Given the description of an element on the screen output the (x, y) to click on. 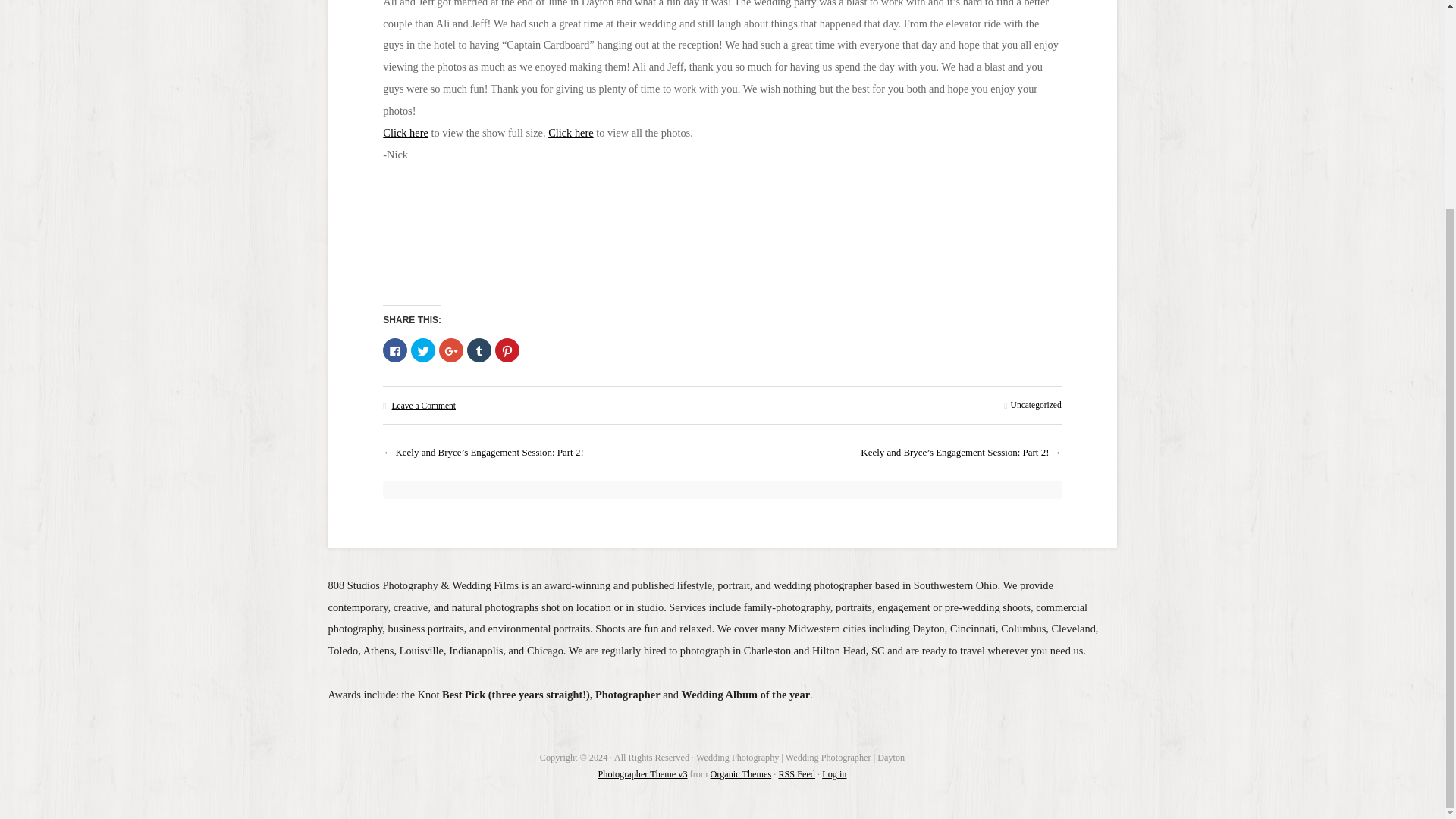
Click here (405, 132)
Photographer Theme v3 (642, 774)
Organic Themes (740, 774)
Click to share on Facebook (394, 350)
RSS Feed (796, 774)
Uncategorized (1035, 404)
Click to share on Tumblr (479, 350)
Click to share on Pinterest (507, 350)
Click to share on Twitter (422, 350)
Log in (833, 774)
Click here (571, 132)
Leave a Comment (423, 405)
